Given the description of an element on the screen output the (x, y) to click on. 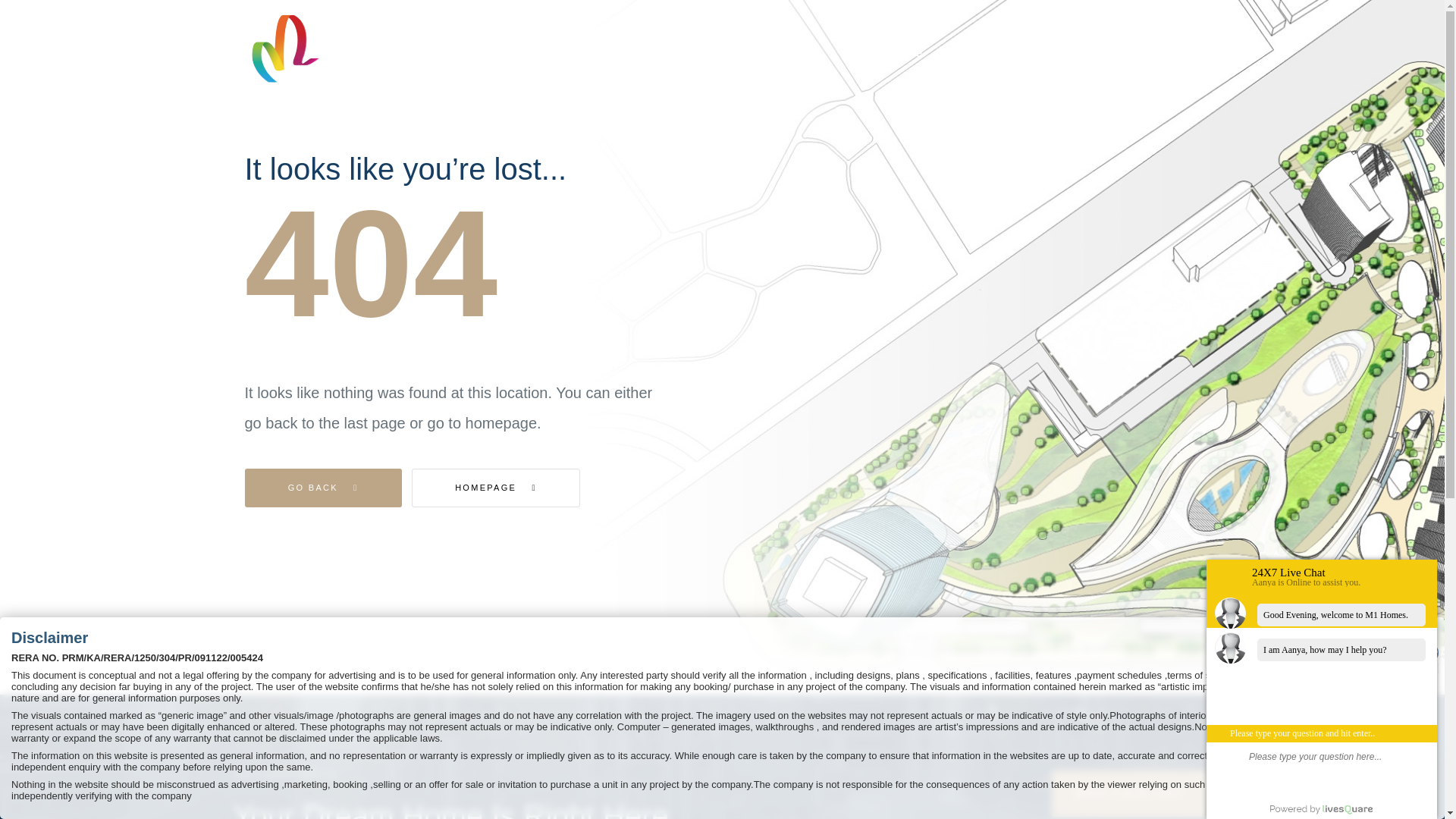
HOMEPAGE (495, 487)
GO BACK (322, 487)
BOOK A SITE VISIT  (1131, 793)
